Given the description of an element on the screen output the (x, y) to click on. 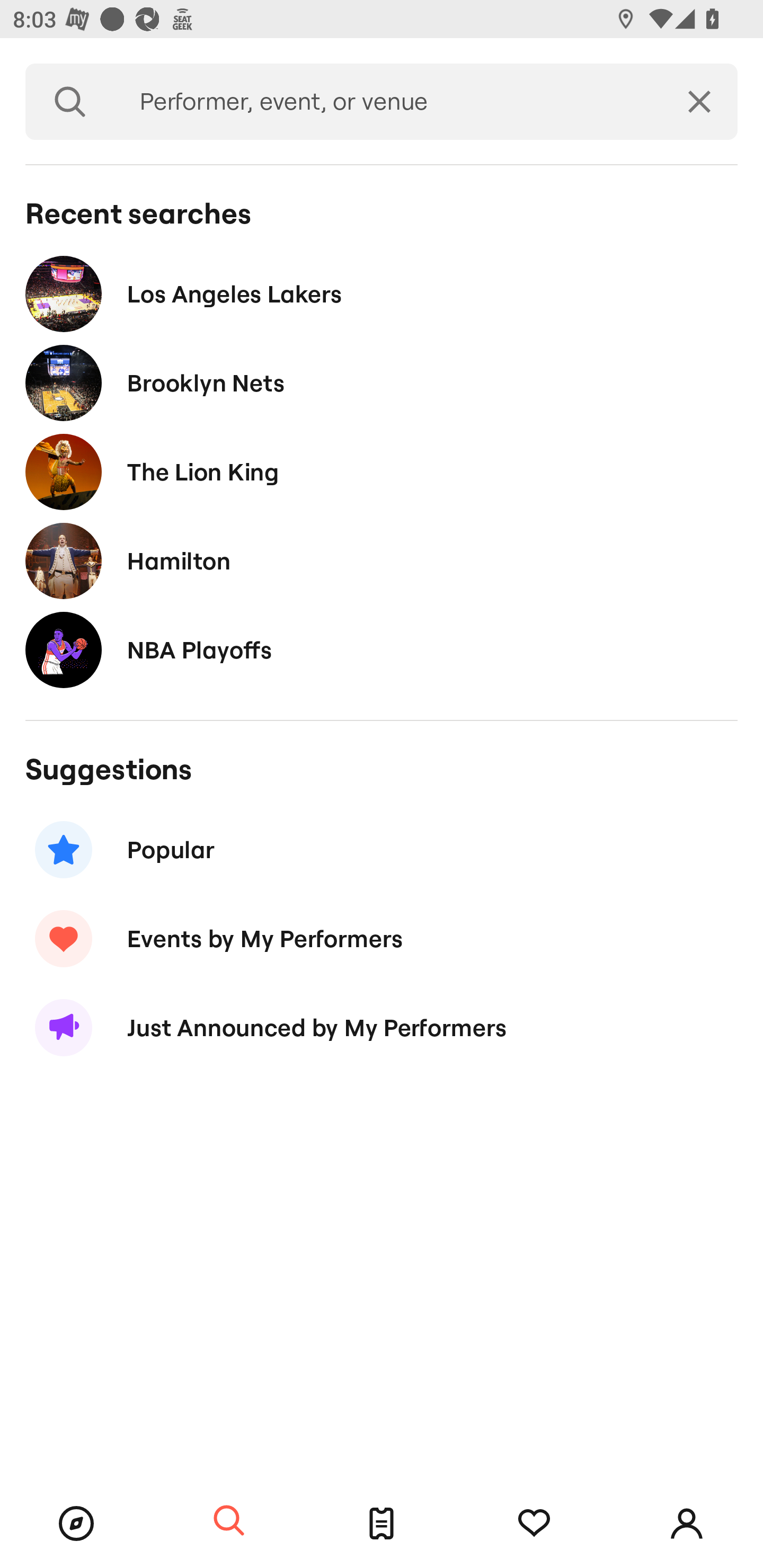
Search (69, 101)
Performer, event, or venue (387, 101)
Clear (699, 101)
Los Angeles Lakers (381, 293)
Brooklyn Nets (381, 383)
The Lion King (381, 471)
Hamilton (381, 560)
NBA Playoffs (381, 649)
Popular (381, 849)
Events by My Performers (381, 938)
Just Announced by My Performers (381, 1027)
Browse (76, 1523)
Search (228, 1521)
Tickets (381, 1523)
Tracking (533, 1523)
Account (686, 1523)
